Given the description of an element on the screen output the (x, y) to click on. 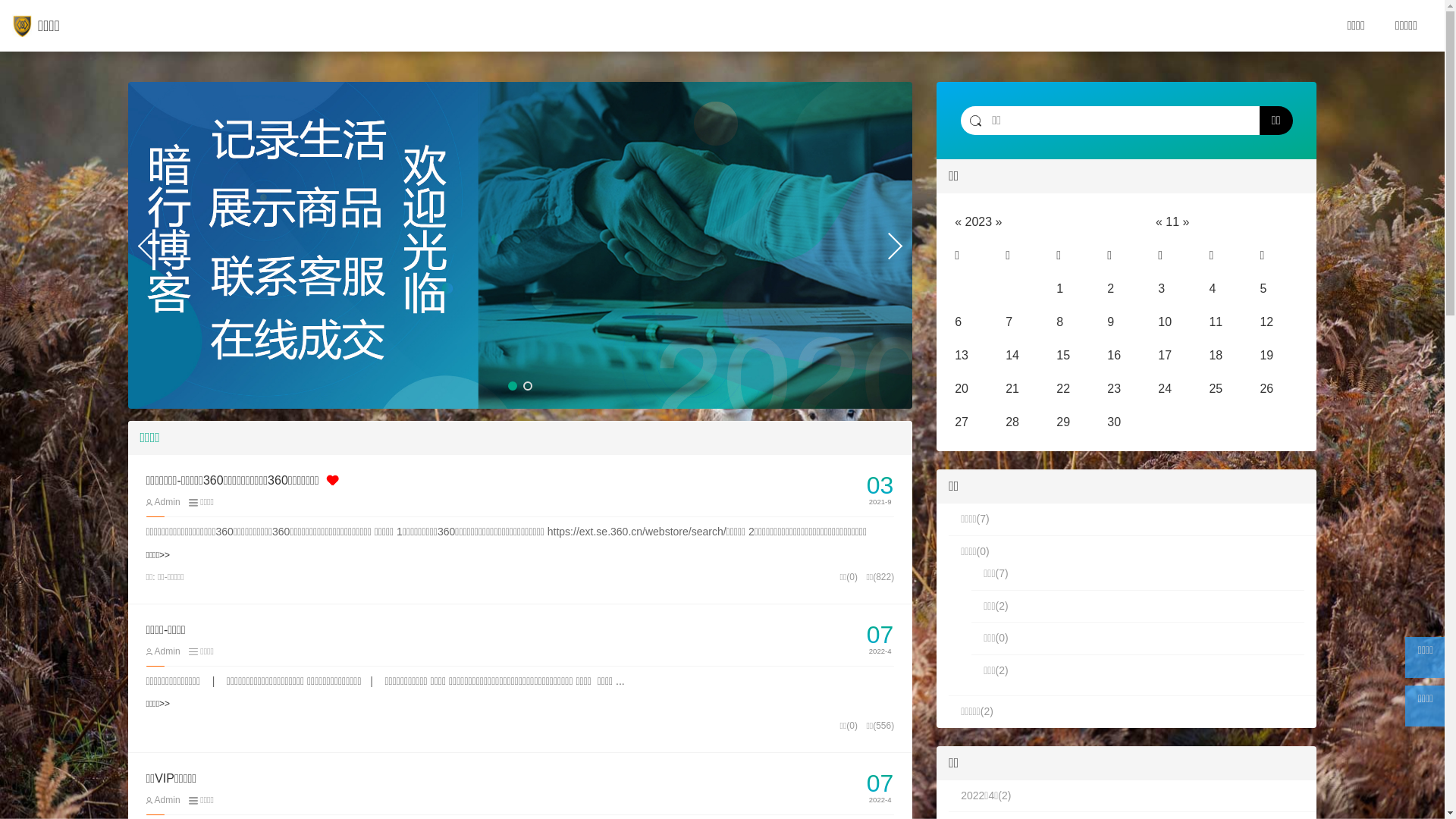
Admin Element type: text (162, 501)
Admin Element type: text (162, 651)
Admin Element type: text (162, 799)
